Given the description of an element on the screen output the (x, y) to click on. 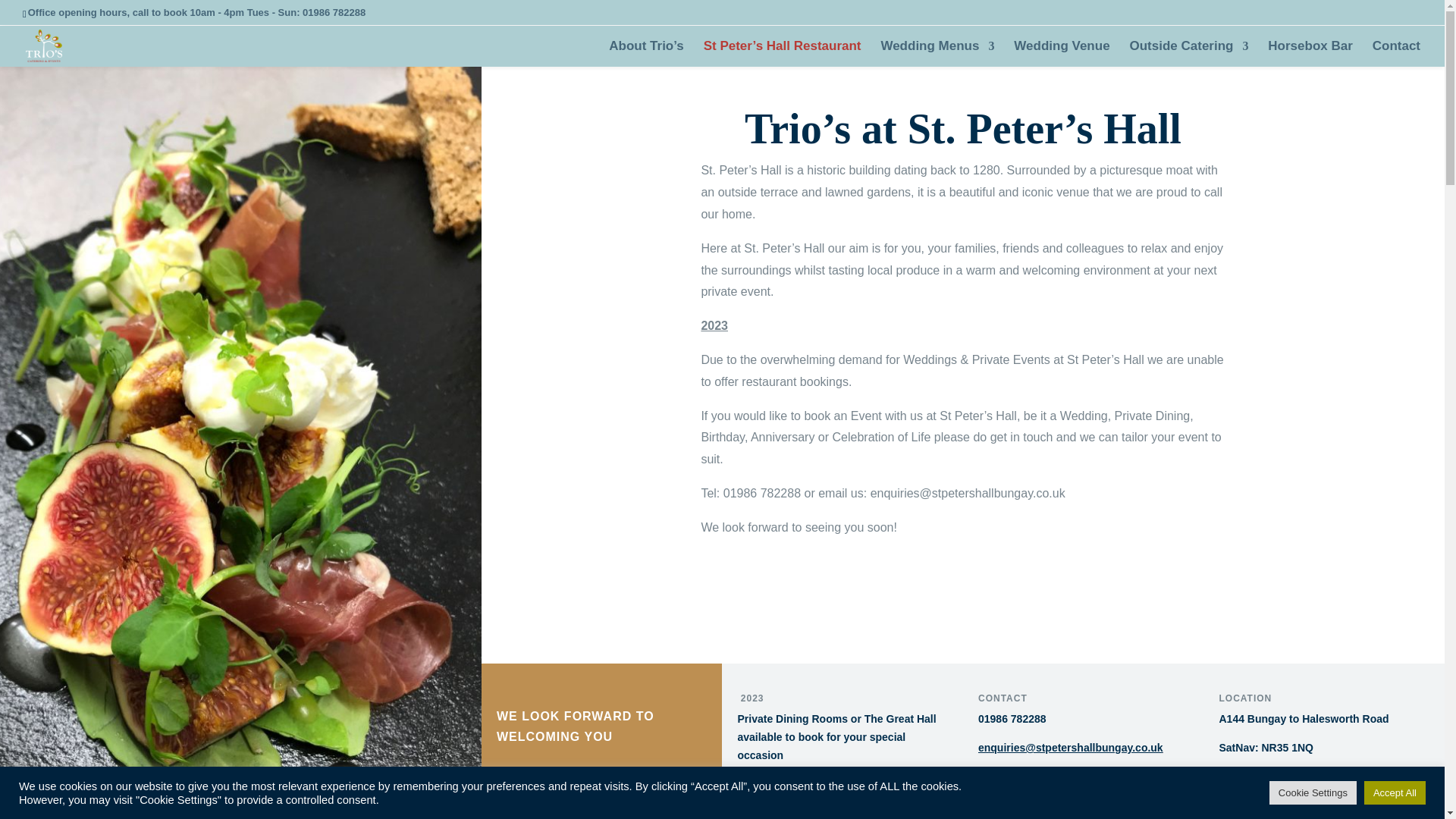
Contact (1397, 53)
Wedding Venue (1061, 53)
Outside Catering (1188, 53)
Horsebox Bar (1310, 53)
Wedding Menus (937, 53)
WE LOOK FORWARD TO WELCOMING YOU (601, 707)
